Given the description of an element on the screen output the (x, y) to click on. 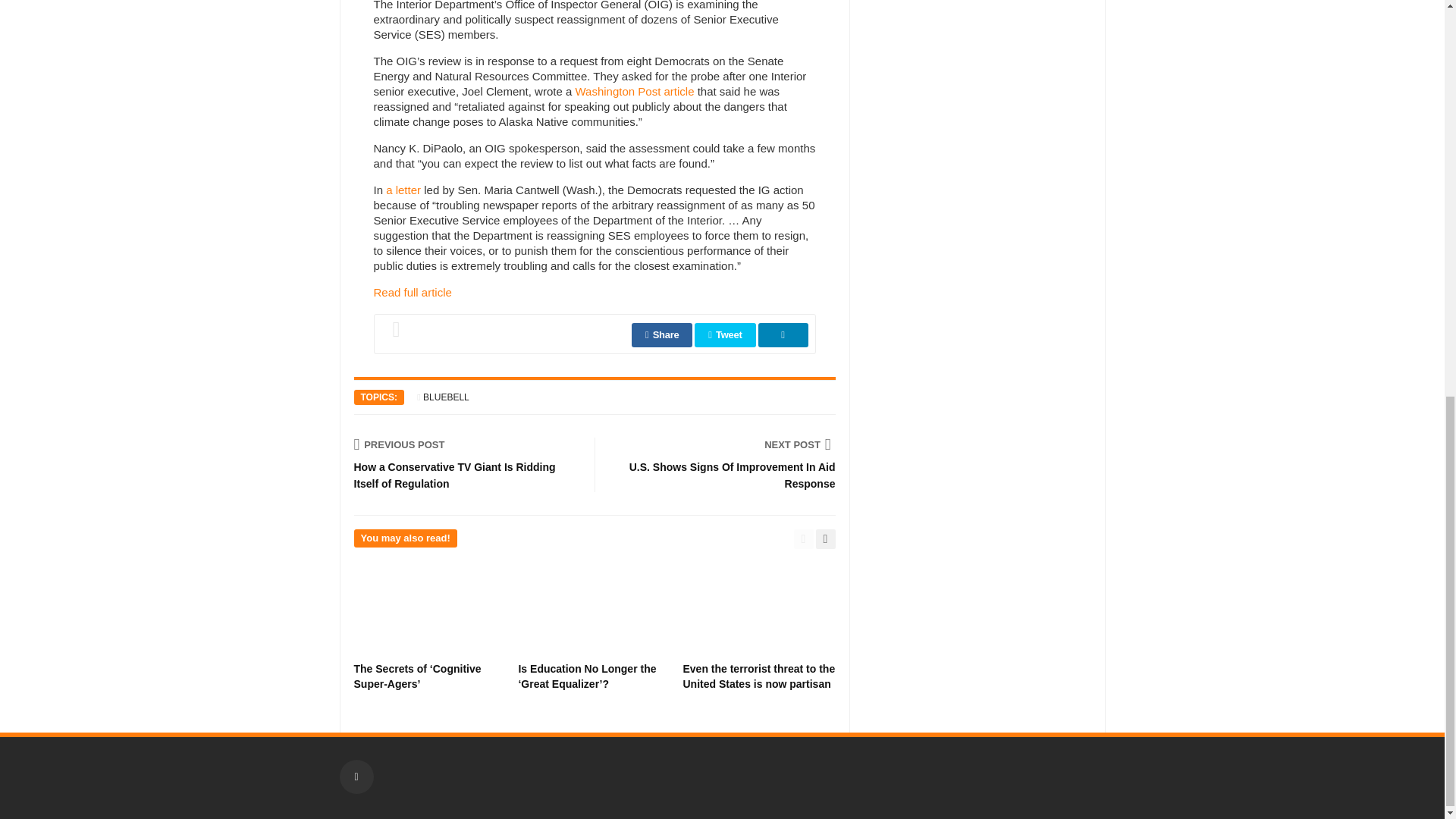
Facebook (356, 776)
How a Conservative TV Giant Is Ridding Itself of Regulation (462, 444)
U.S. Shows Signs Of Improvement In Aid Response (726, 444)
